Given the description of an element on the screen output the (x, y) to click on. 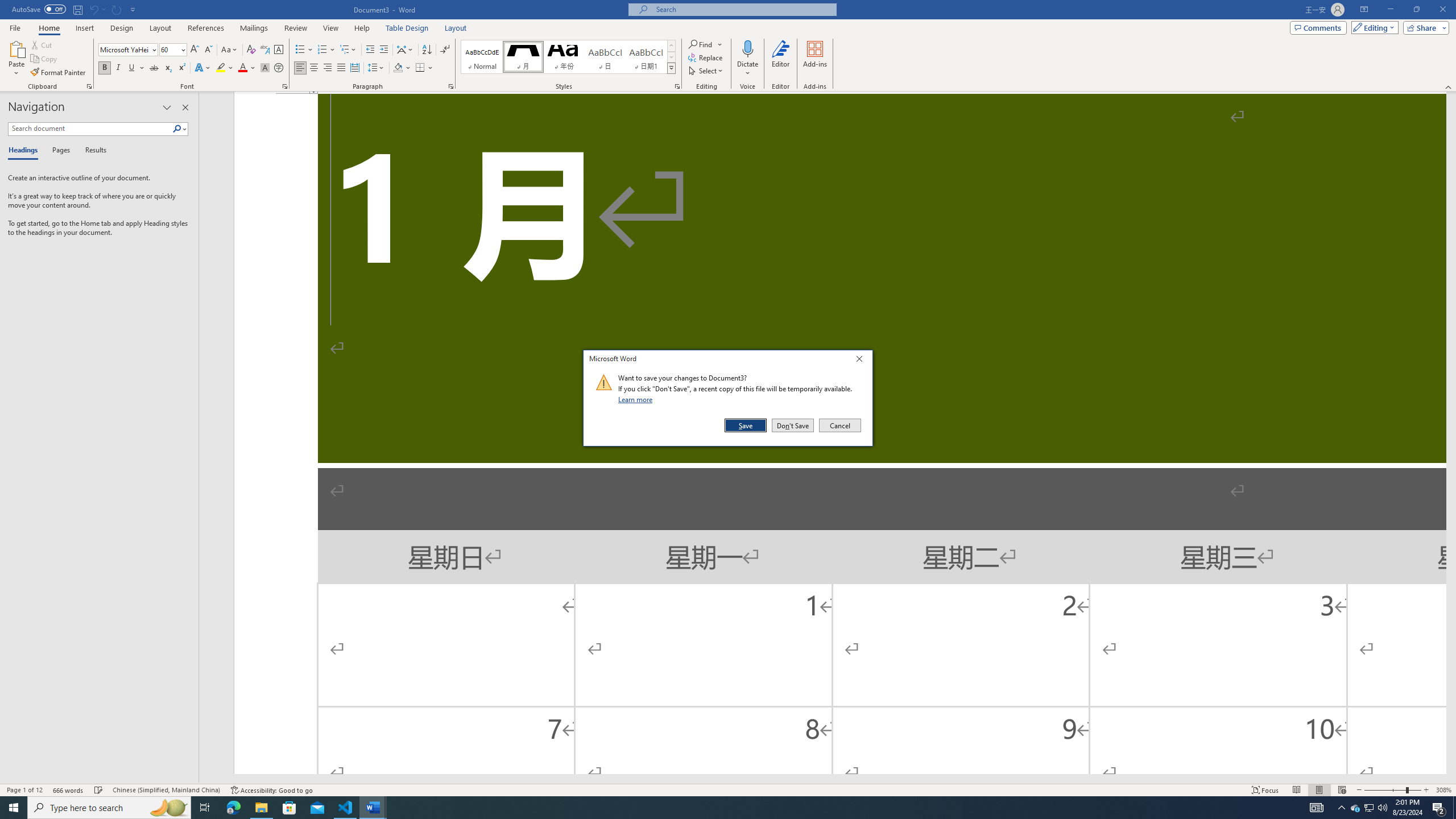
Bullets (300, 49)
Microsoft Store (289, 807)
Numbering (322, 49)
Superscript (180, 67)
Start (13, 807)
Font Size (1368, 807)
Find (172, 49)
Learn more (705, 44)
Underline (636, 399)
Grow Font (136, 67)
AutomationID: QuickStylesGallery (193, 49)
Open (568, 56)
